Given the description of an element on the screen output the (x, y) to click on. 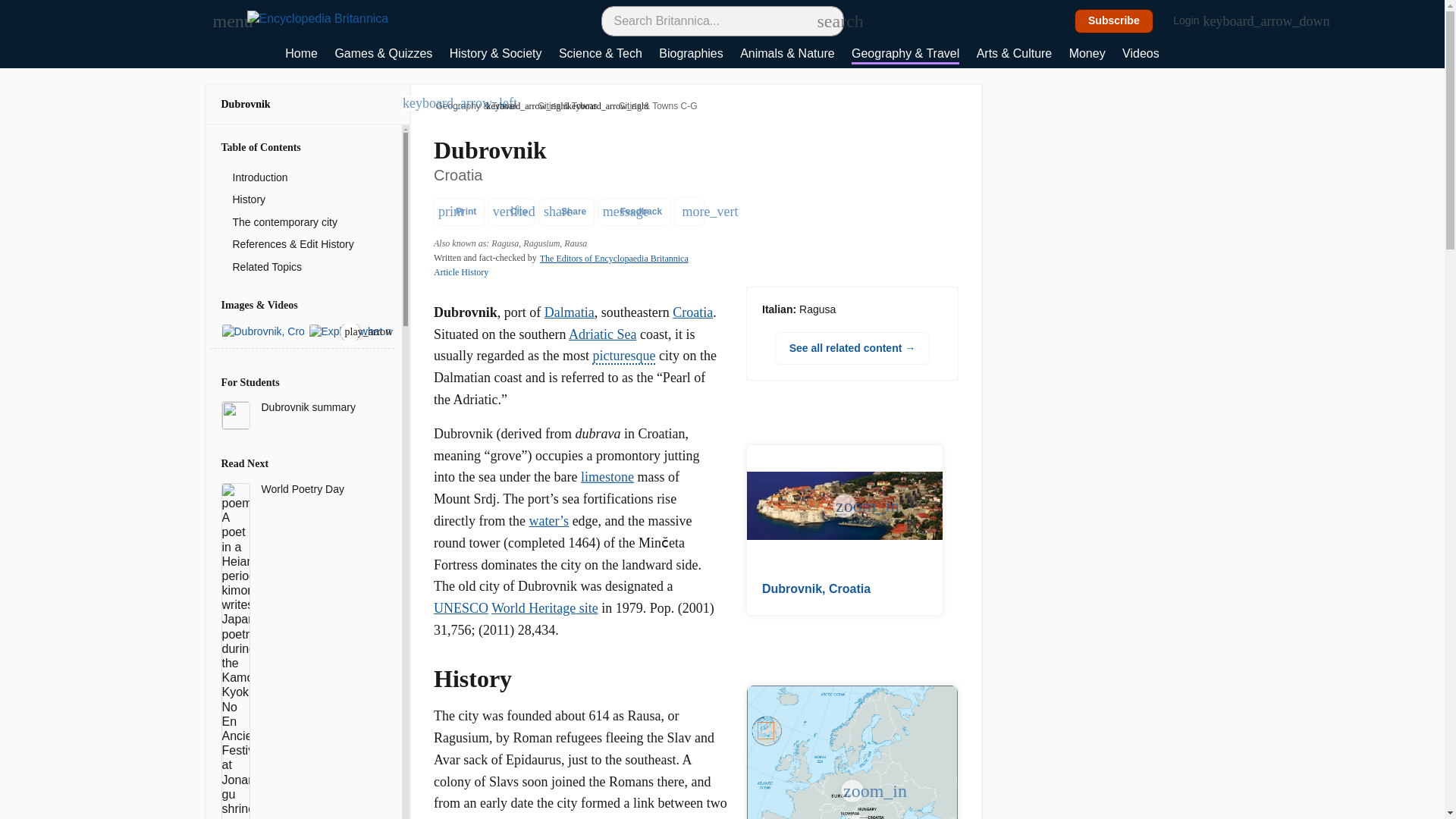
Click here to search (825, 20)
Subscribe (1114, 21)
Login (1194, 20)
